Given the description of an element on the screen output the (x, y) to click on. 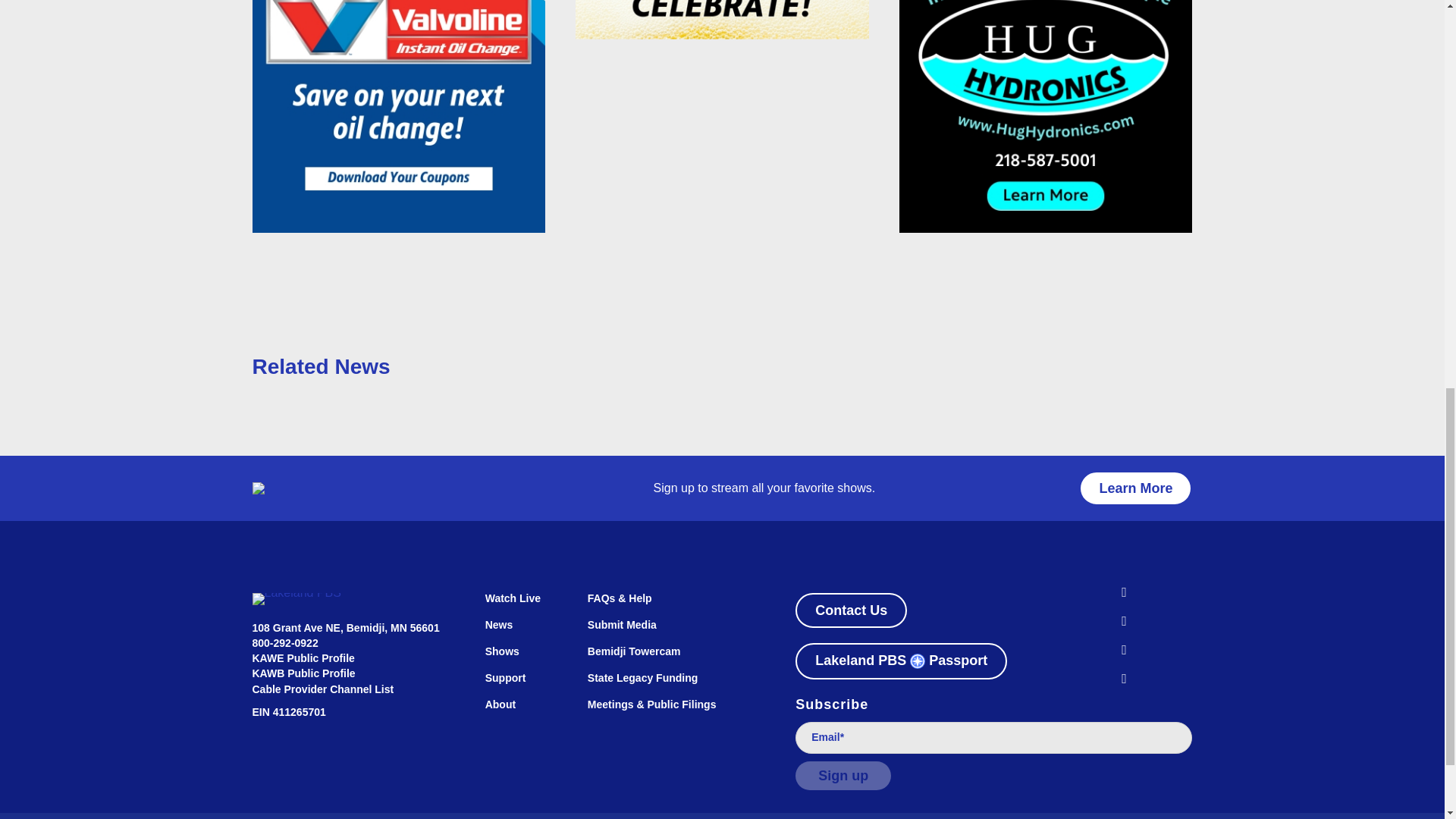
Shows (520, 658)
Cable Provider Channel List (322, 689)
KAWB Public Profile (303, 673)
KAWE Public Profile (302, 657)
Cable Provider Channel List (322, 689)
Sign up (842, 775)
News (520, 632)
Submit Media (674, 632)
800-292-0922 (284, 643)
About (520, 711)
Learn More (1135, 488)
Support (520, 685)
KAWE Public Profile (302, 657)
Call Us Today (284, 643)
KAWB Public Profile (303, 673)
